Given the description of an element on the screen output the (x, y) to click on. 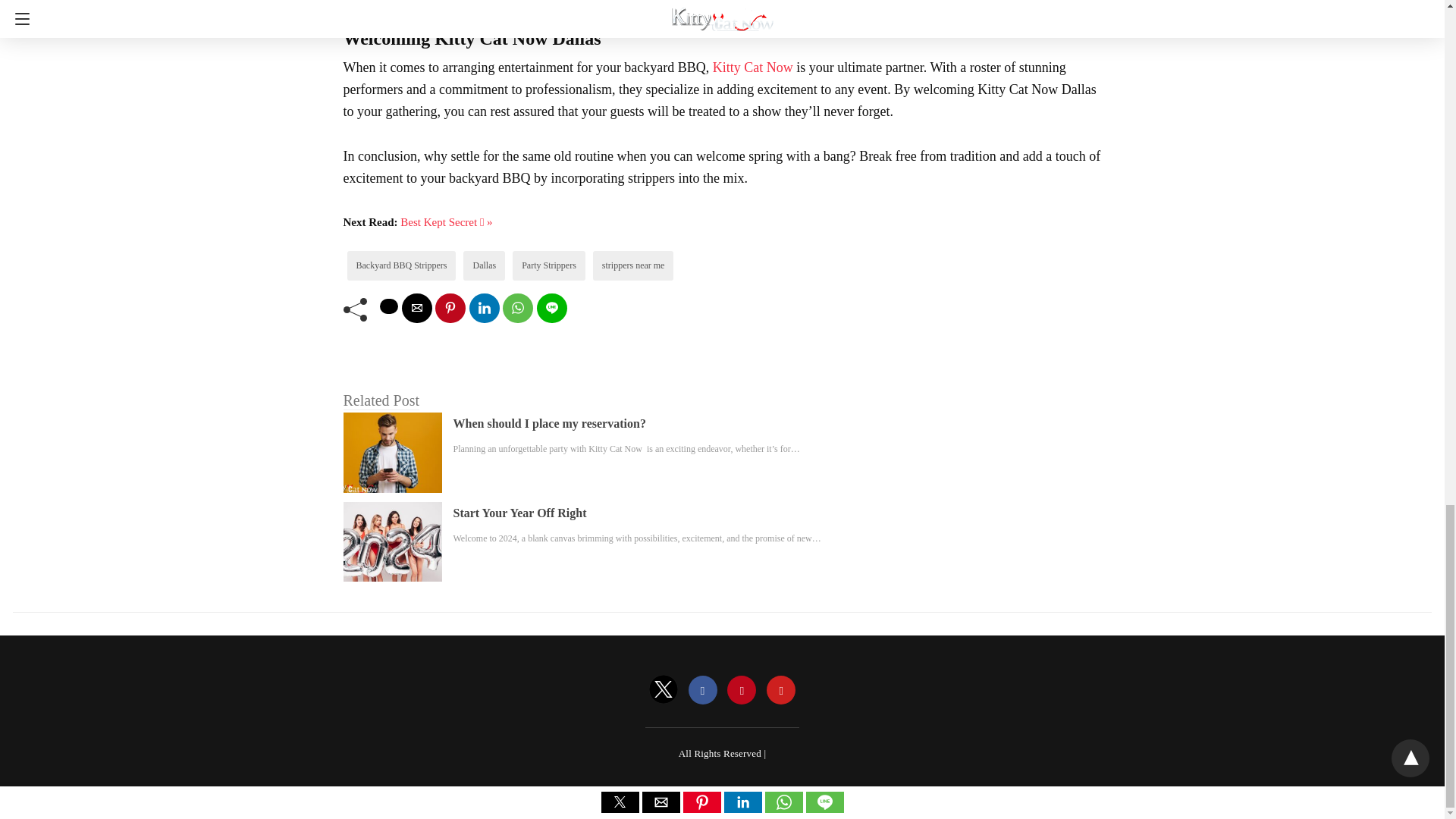
Dallas (483, 265)
youtube profile (780, 690)
twitter profile (663, 690)
strippers near me (633, 265)
When should I place my reservation? (549, 422)
mailto (416, 307)
pinterest share (450, 307)
line share (552, 307)
facebook profile (702, 690)
pinterest profile (740, 690)
Backyard BBQ Strippers (401, 265)
twitter share (388, 305)
When should I place my reservation? (549, 422)
Party Strippers (548, 265)
Start Your Year Off Right (519, 512)
